Given the description of an element on the screen output the (x, y) to click on. 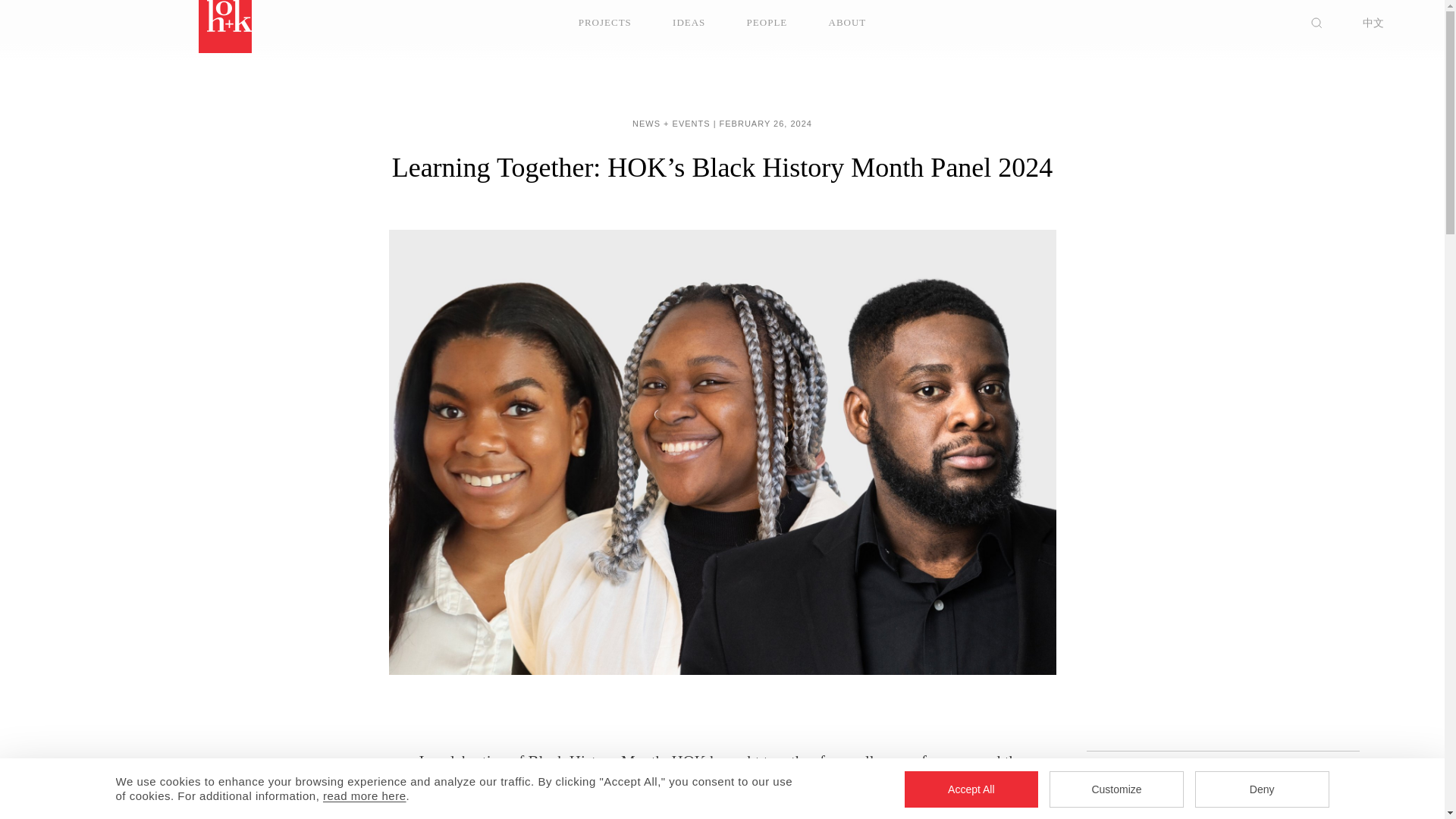
Privacy Policy (364, 795)
Deny (1262, 789)
Customize (1116, 789)
read more here (364, 795)
Accept All (971, 789)
